Given the description of an element on the screen output the (x, y) to click on. 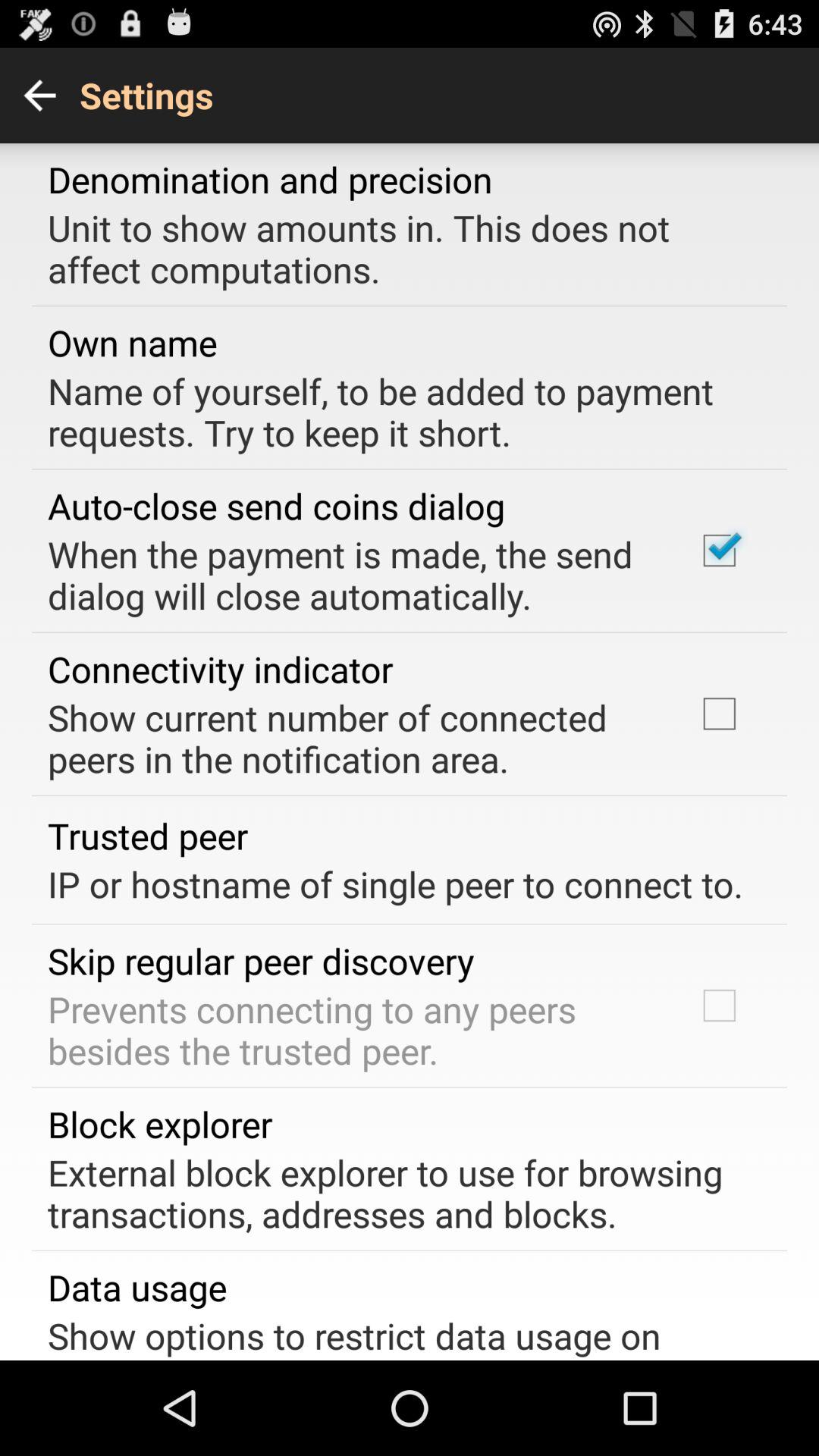
jump until the denomination and precision (269, 179)
